Given the description of an element on the screen output the (x, y) to click on. 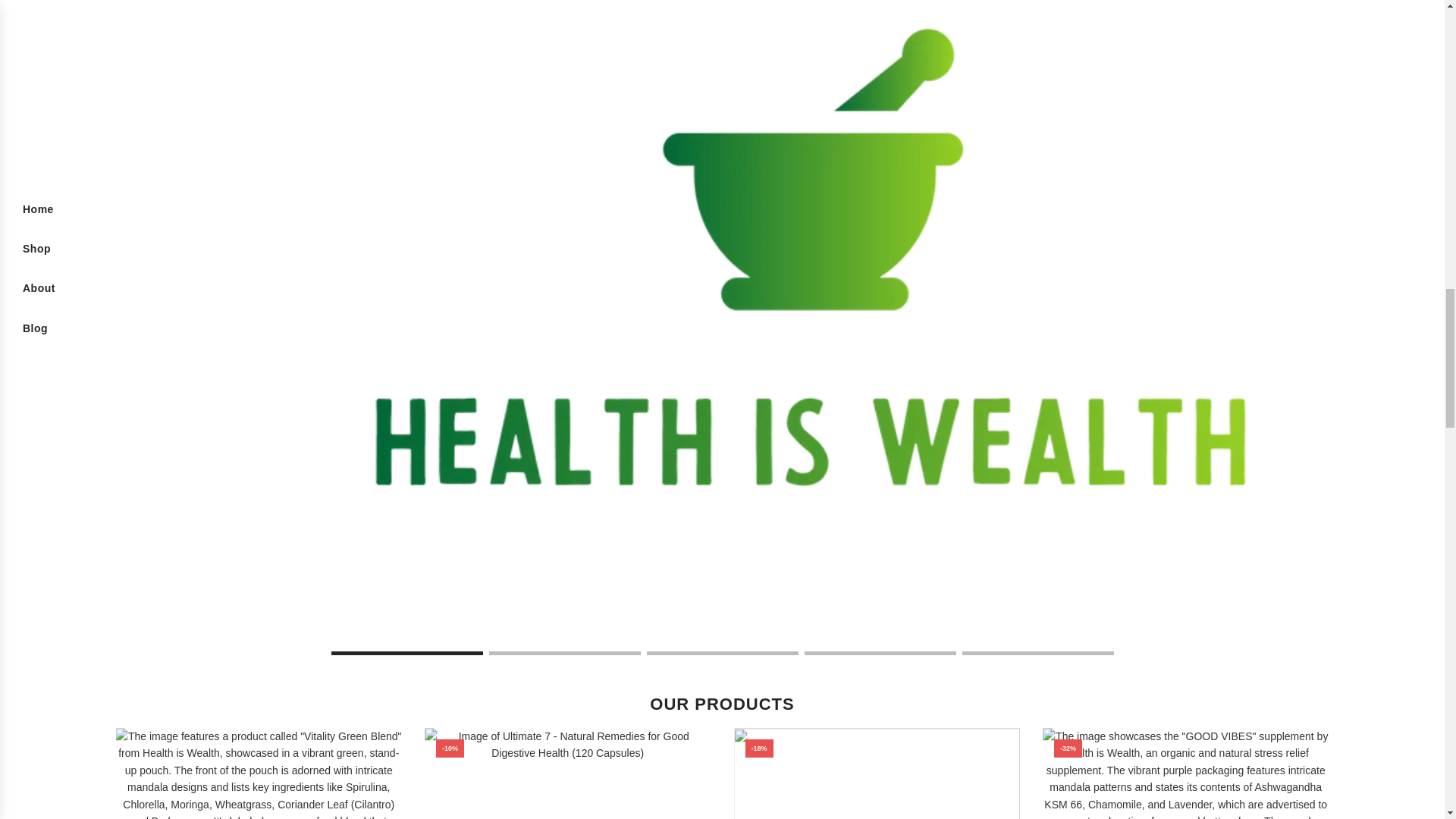
Good Vibes - Organic Stress Relief Supplement (1185, 773)
Ultimate 7 - Digestive Health Capsules (568, 773)
Vitality Green Blend Capsules - Organic Energy Greens (258, 773)
Vitality Green Blend Powder - Organic Energy Greens (876, 773)
